Given the description of an element on the screen output the (x, y) to click on. 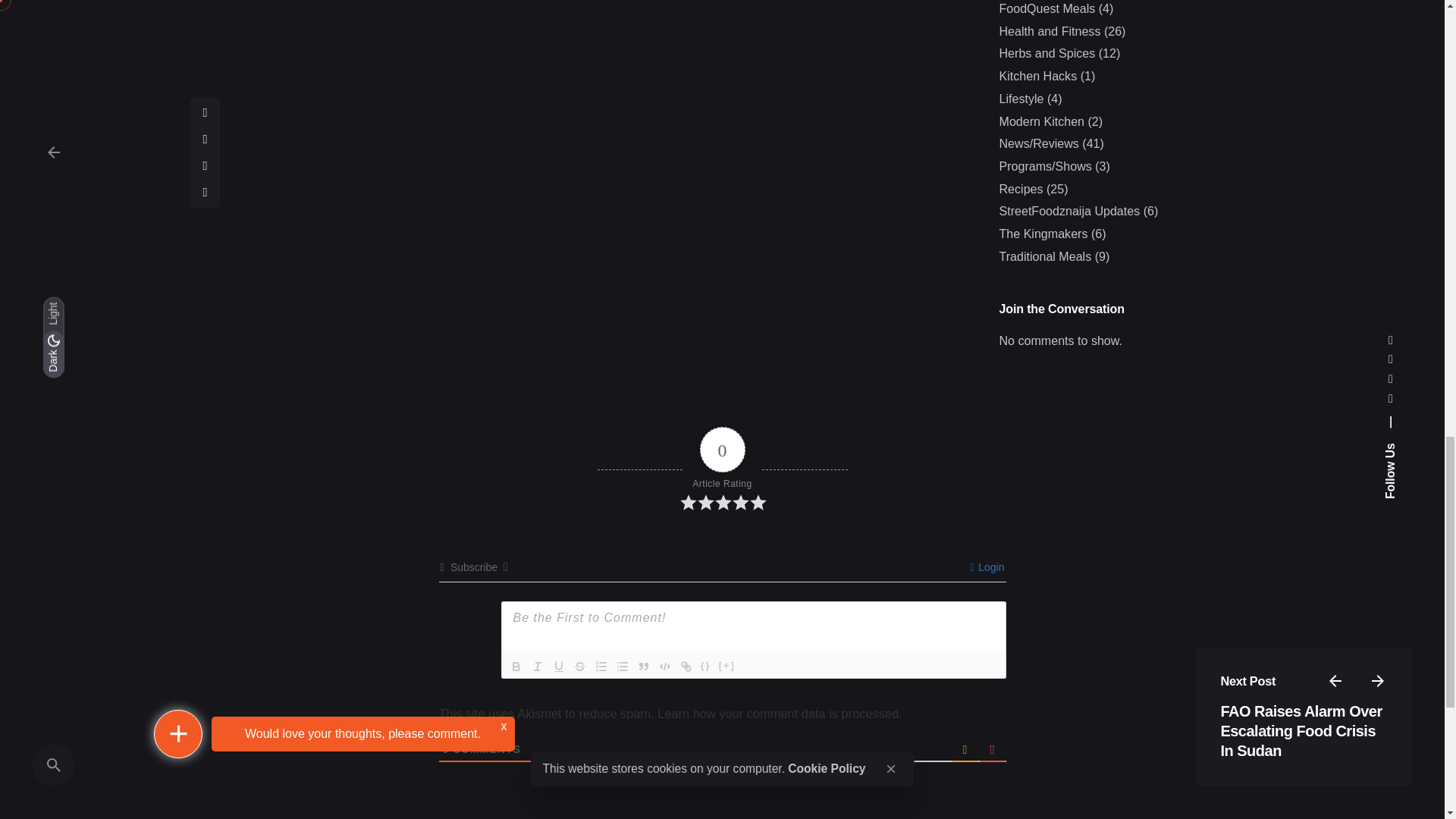
Unordered List (621, 666)
Strike (579, 666)
Italic (536, 666)
Underline (558, 666)
Code Block (664, 666)
Ordered List (600, 666)
Bold (515, 666)
Spoiler (726, 666)
Link (685, 666)
Source Code (704, 666)
Blockquote (642, 666)
